Given the description of an element on the screen output the (x, y) to click on. 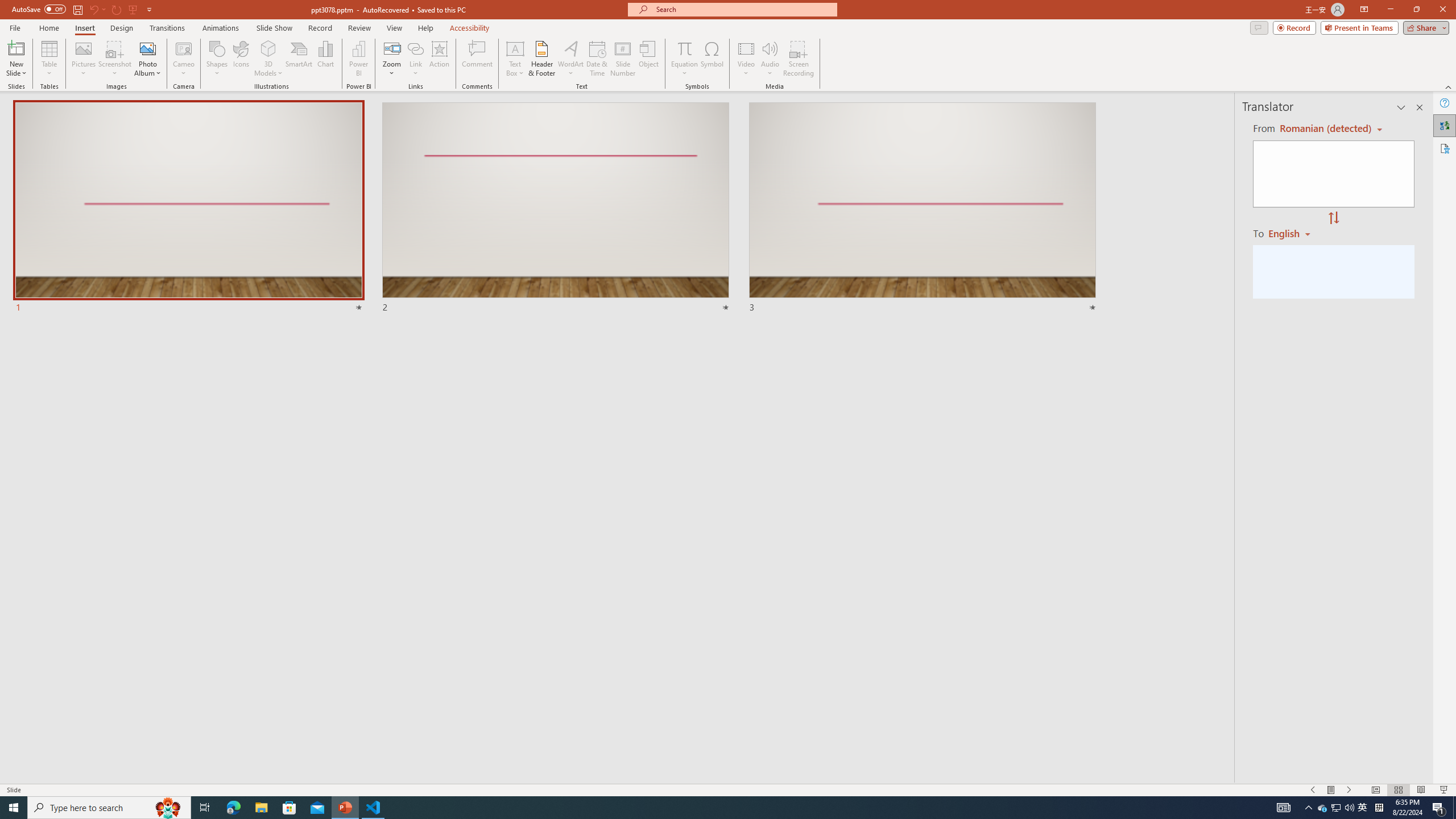
Video (745, 58)
Symbol... (711, 58)
SmartArt... (298, 58)
Screen Recording... (798, 58)
Table (49, 58)
Icons (240, 58)
Romanian (1293, 232)
